Given the description of an element on the screen output the (x, y) to click on. 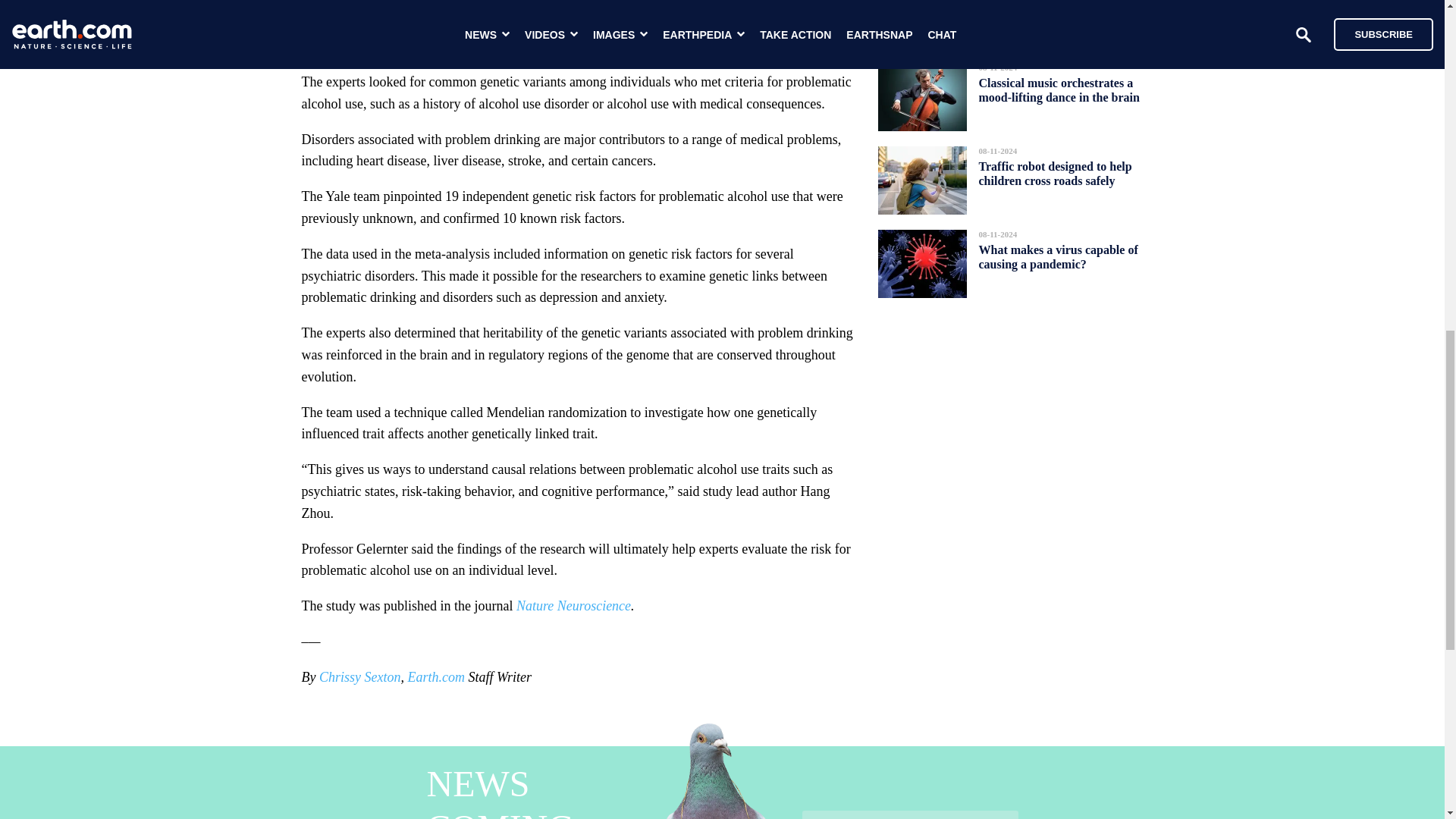
Chrissy Sexton (359, 676)
Nature Neuroscience (573, 605)
What makes a virus capable of causing a pandemic? (1057, 256)
Earth.com (435, 676)
Traffic robot designed to help children cross roads safely (1054, 173)
